Given the description of an element on the screen output the (x, y) to click on. 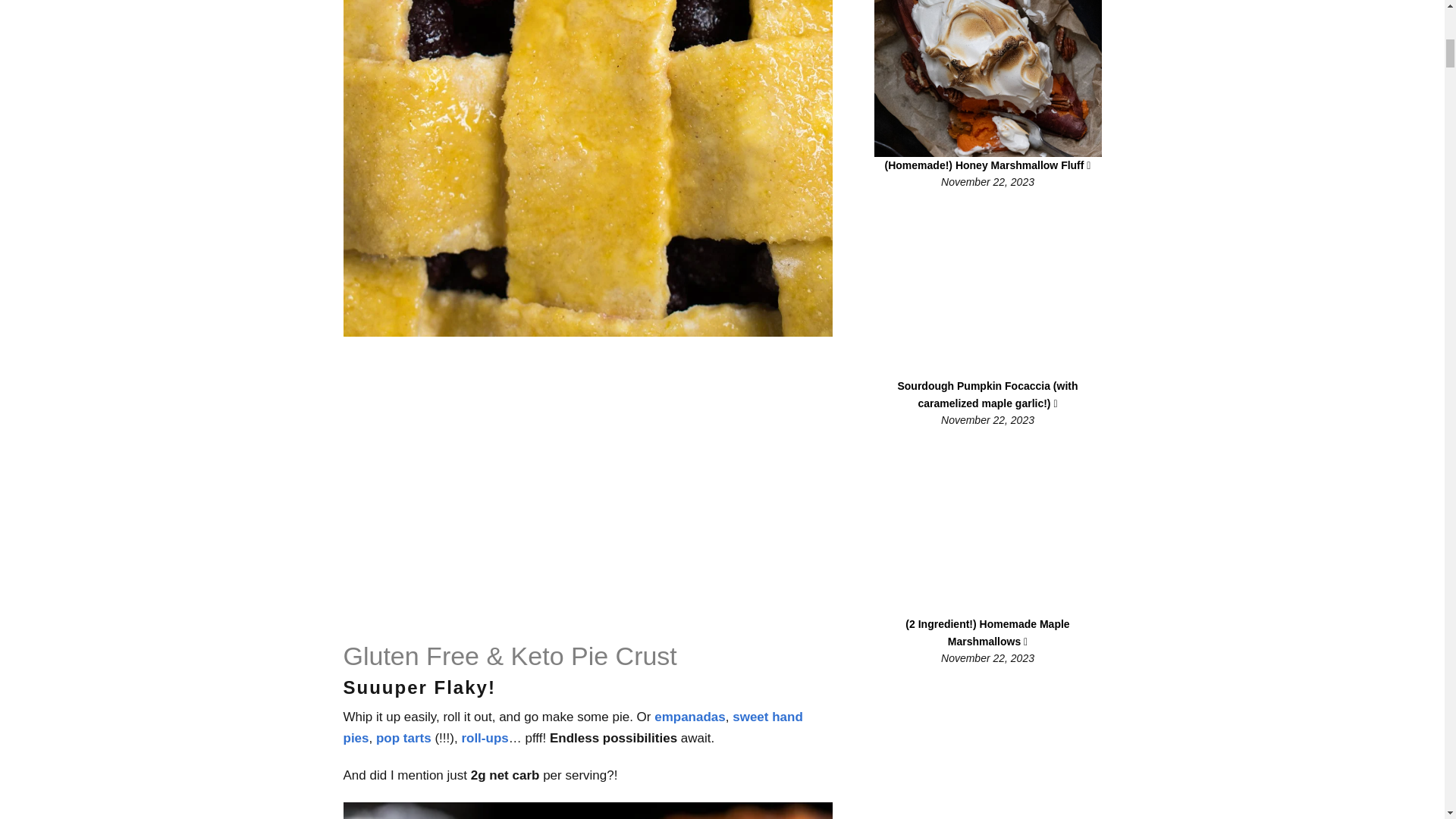
sweet hand pies (572, 727)
roll-ups (484, 738)
empanadas (689, 716)
pop tarts (402, 738)
